Given the description of an element on the screen output the (x, y) to click on. 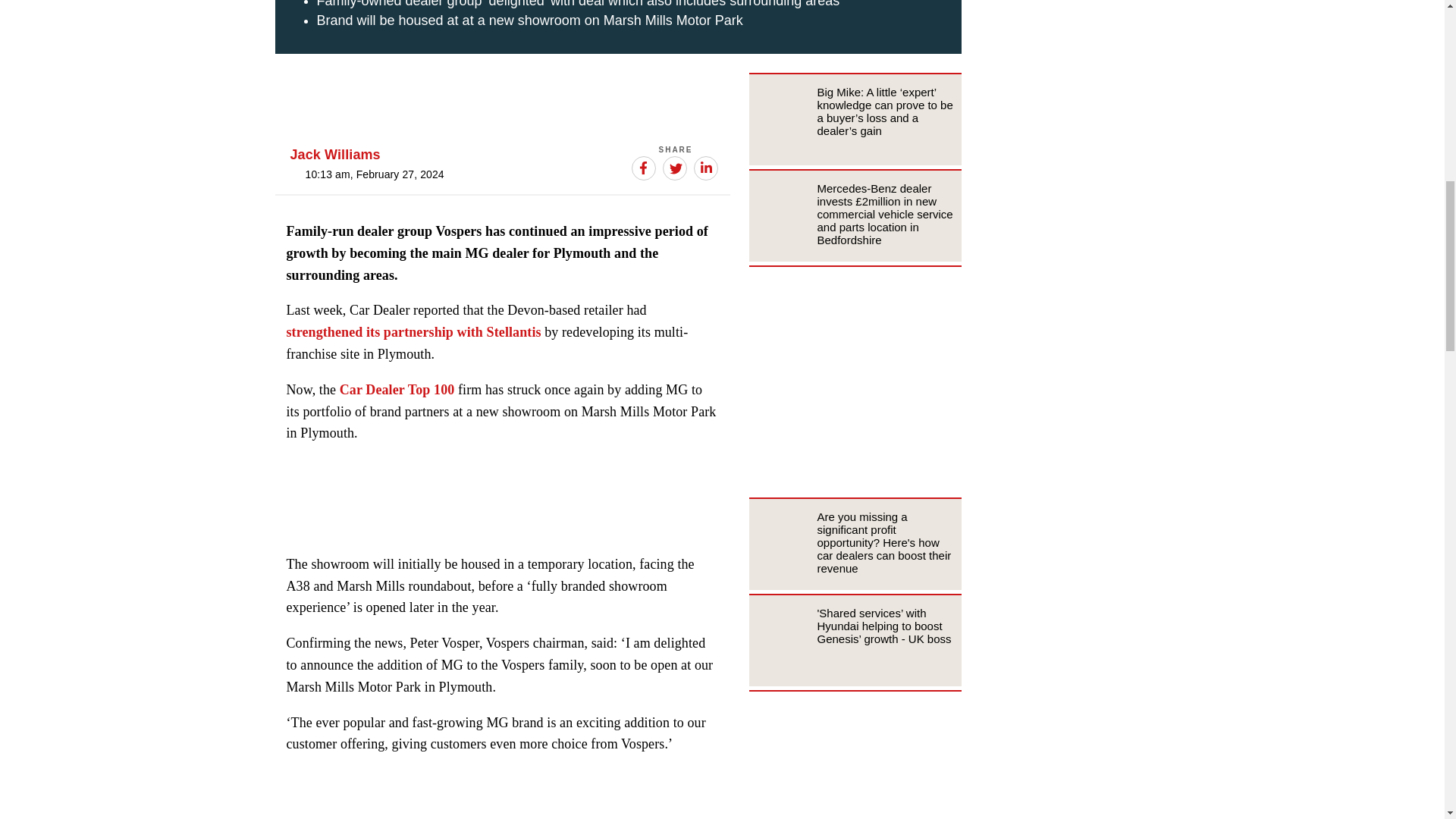
Car Dealer Top 100 (396, 389)
Jack Williams (334, 154)
strengthened its partnership with Stellantis (413, 331)
Posts by Jack Williams (334, 154)
